Given the description of an element on the screen output the (x, y) to click on. 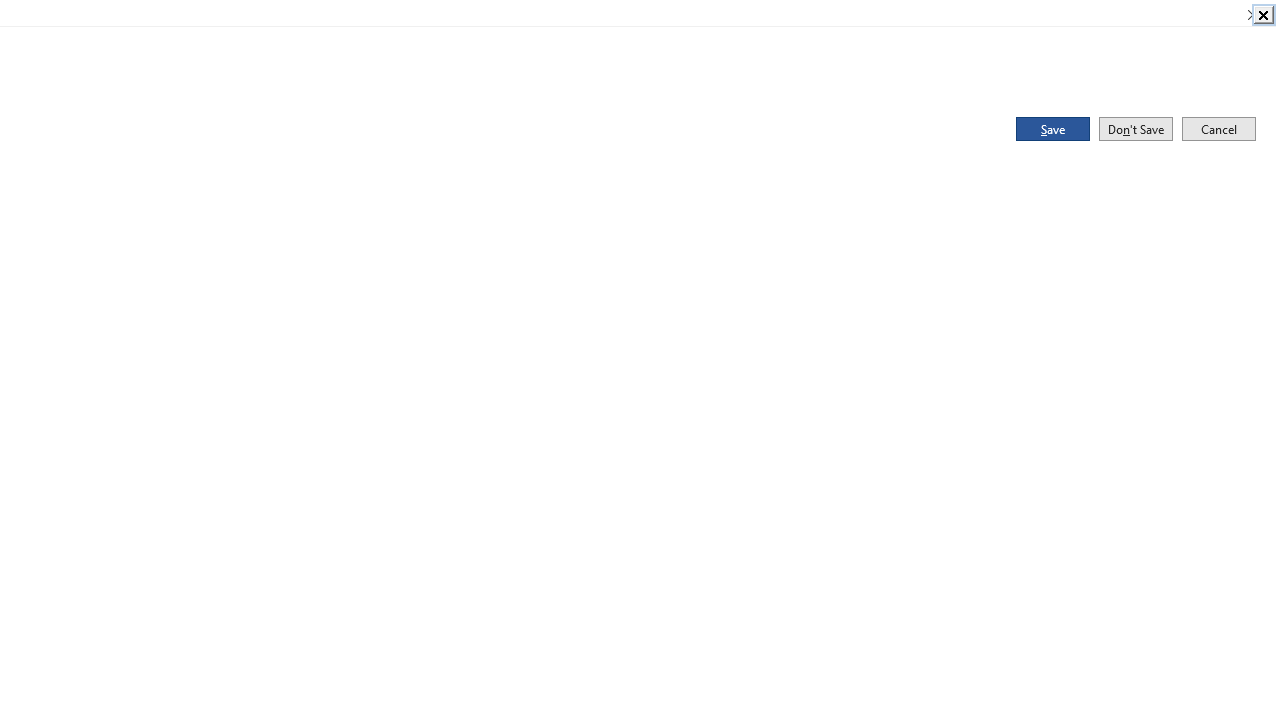
Cancel (1218, 128)
Don't Save (1135, 128)
